Given the description of an element on the screen output the (x, y) to click on. 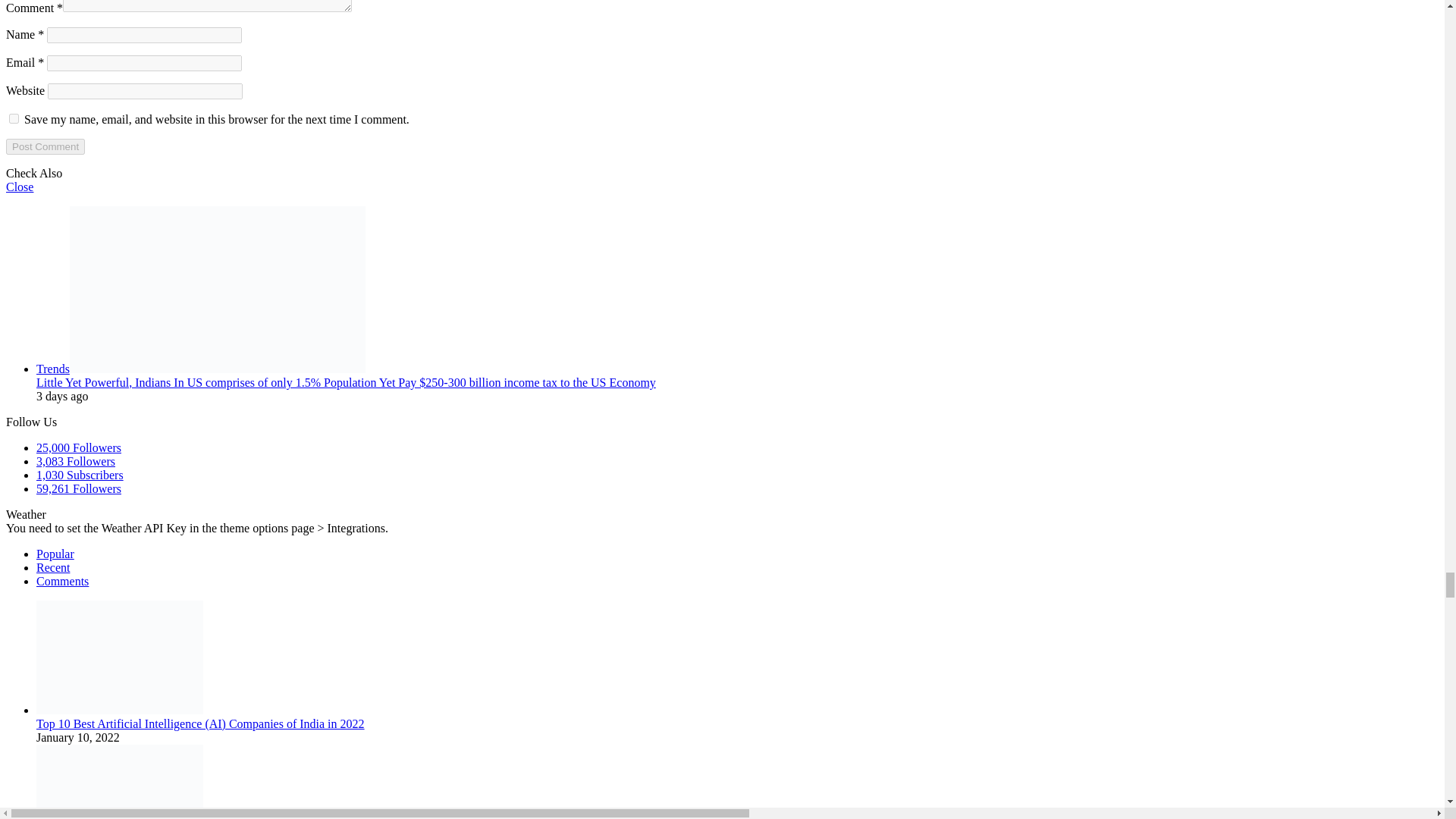
Post Comment (44, 146)
yes (13, 118)
